Given the description of an element on the screen output the (x, y) to click on. 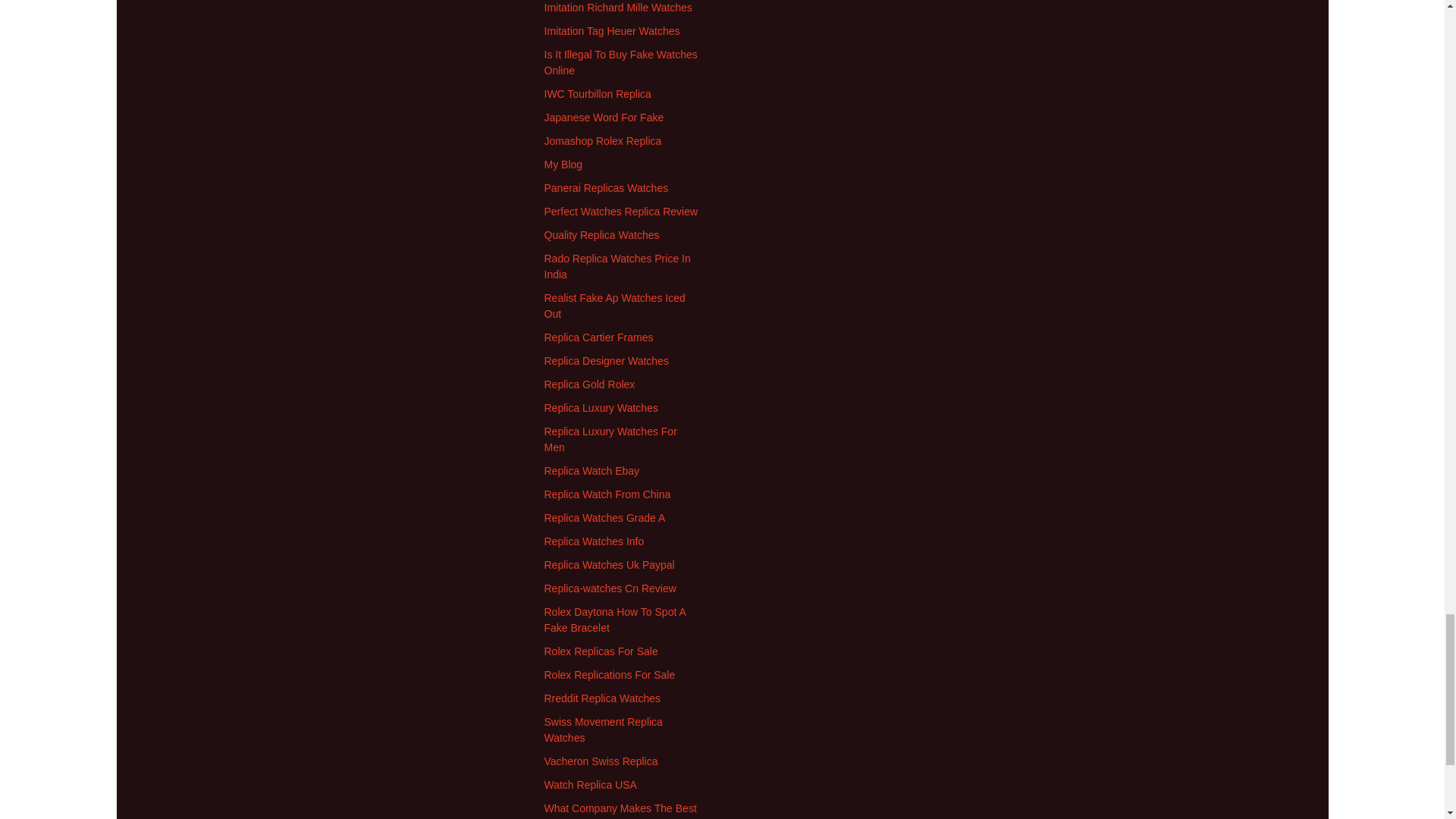
IWC Tourbillon Replica (597, 93)
Is It Illegal To Buy Fake Watches Online (620, 62)
Imitation Tag Heuer Watches (611, 30)
Imitation Richard Mille Watches (618, 7)
Japanese Word For Fake (603, 117)
